Given the description of an element on the screen output the (x, y) to click on. 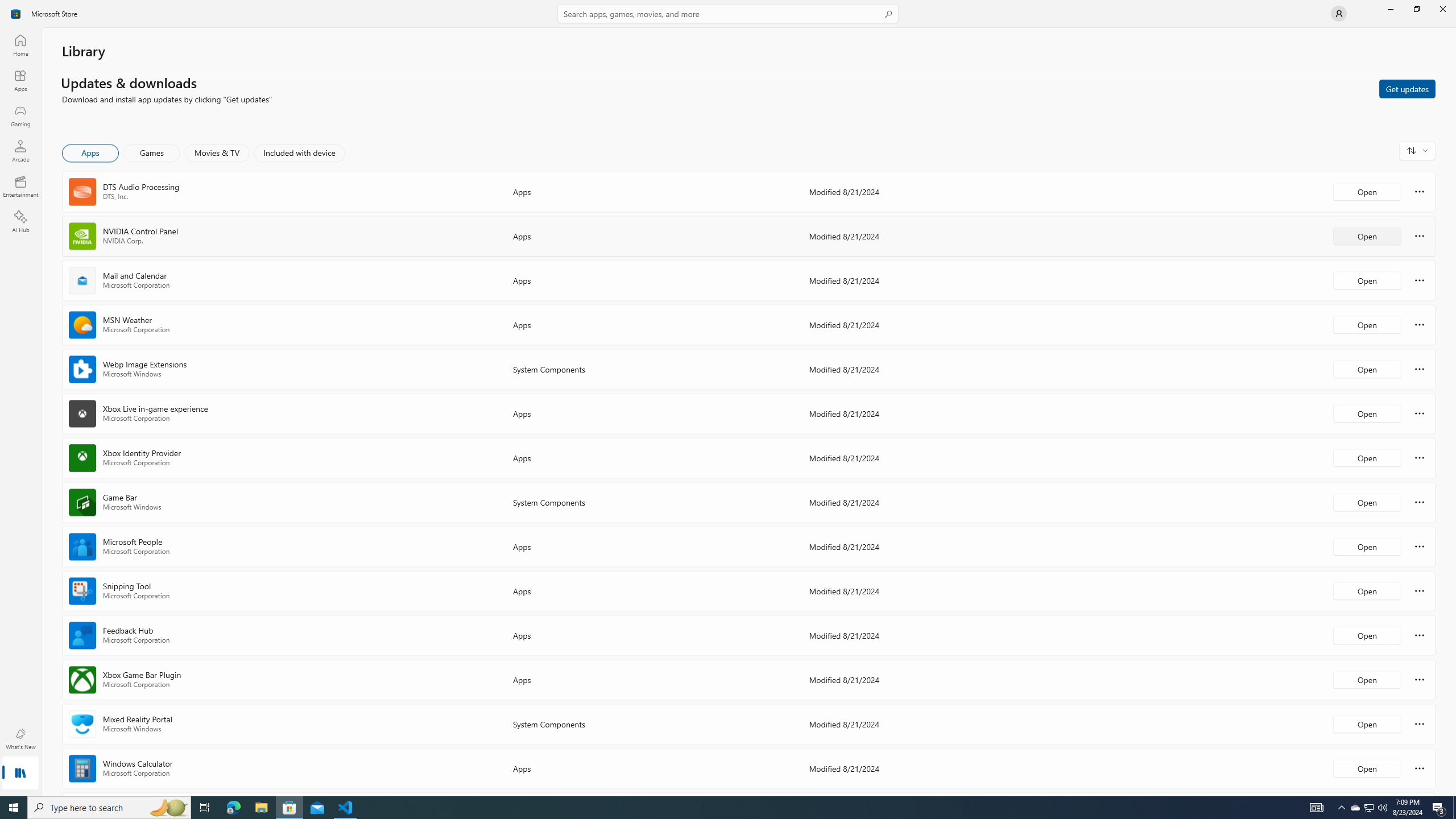
AutomationID: NavigationControl (728, 398)
More options (1419, 768)
Movies & TV (216, 153)
